Given the description of an element on the screen output the (x, y) to click on. 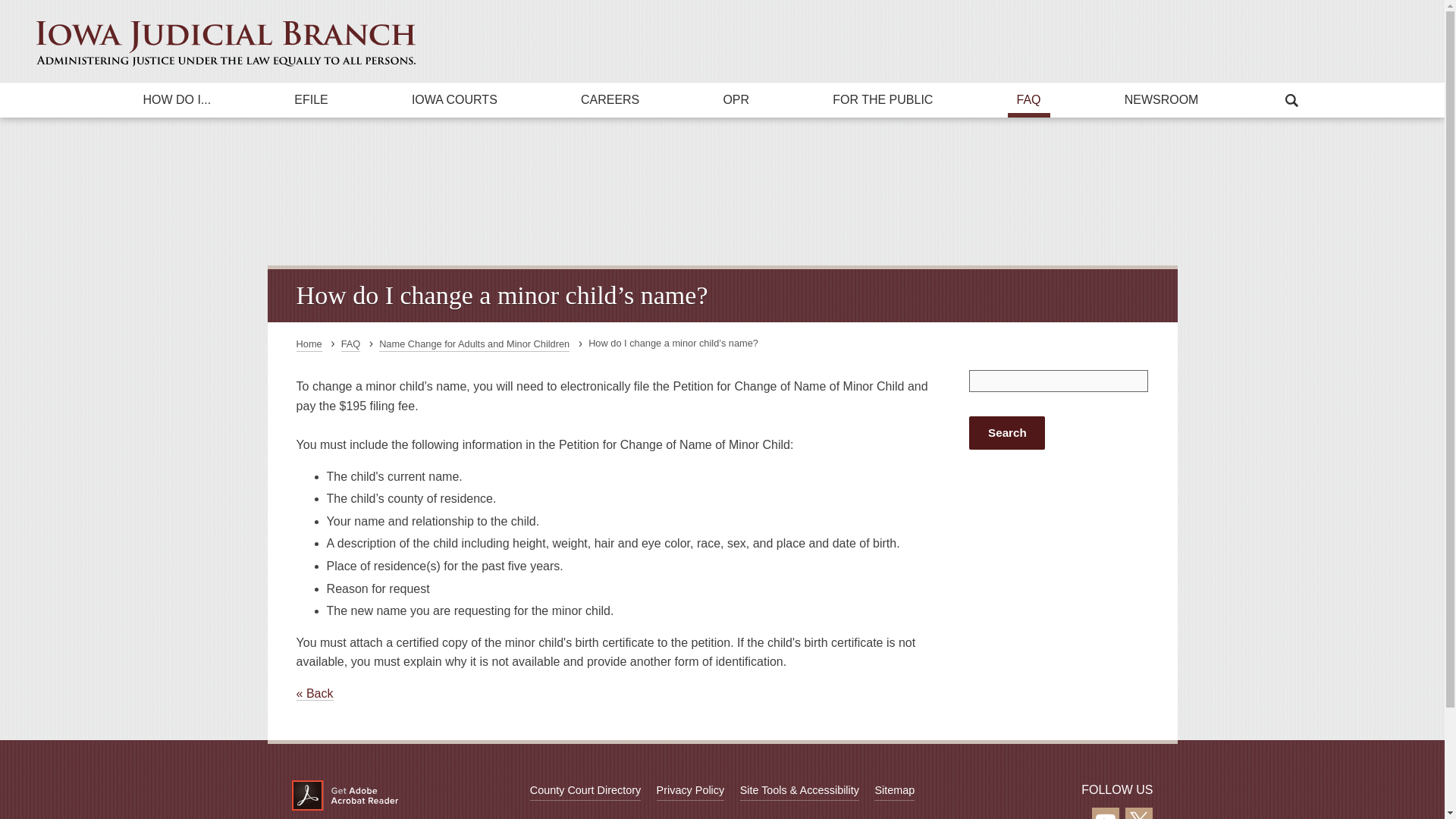
IOWA COURTS (453, 99)
CAREERS (609, 99)
Search (1024, 55)
EFILE (310, 99)
OPR (735, 99)
